Given the description of an element on the screen output the (x, y) to click on. 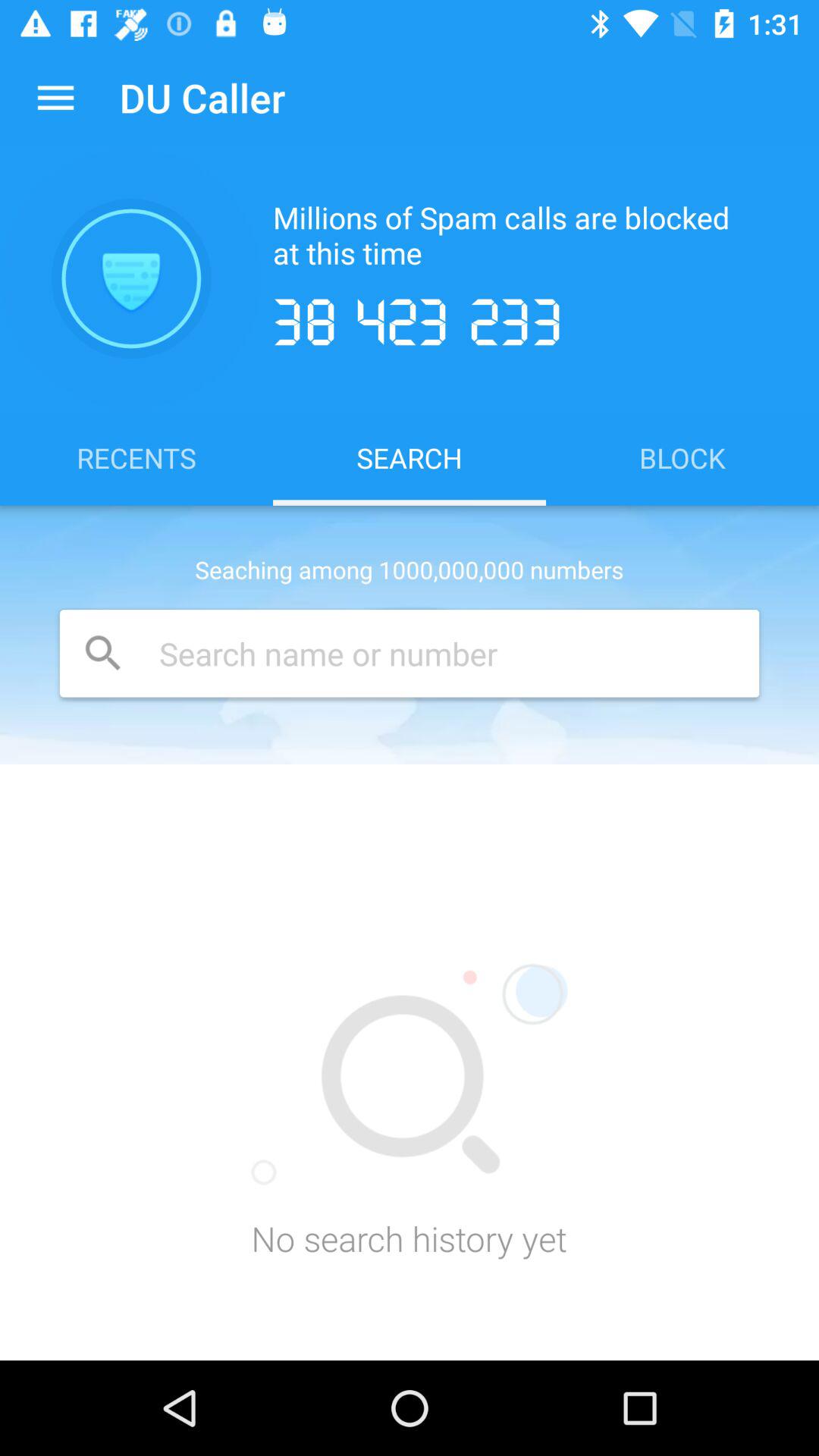
select block icon (682, 457)
